Given the description of an element on the screen output the (x, y) to click on. 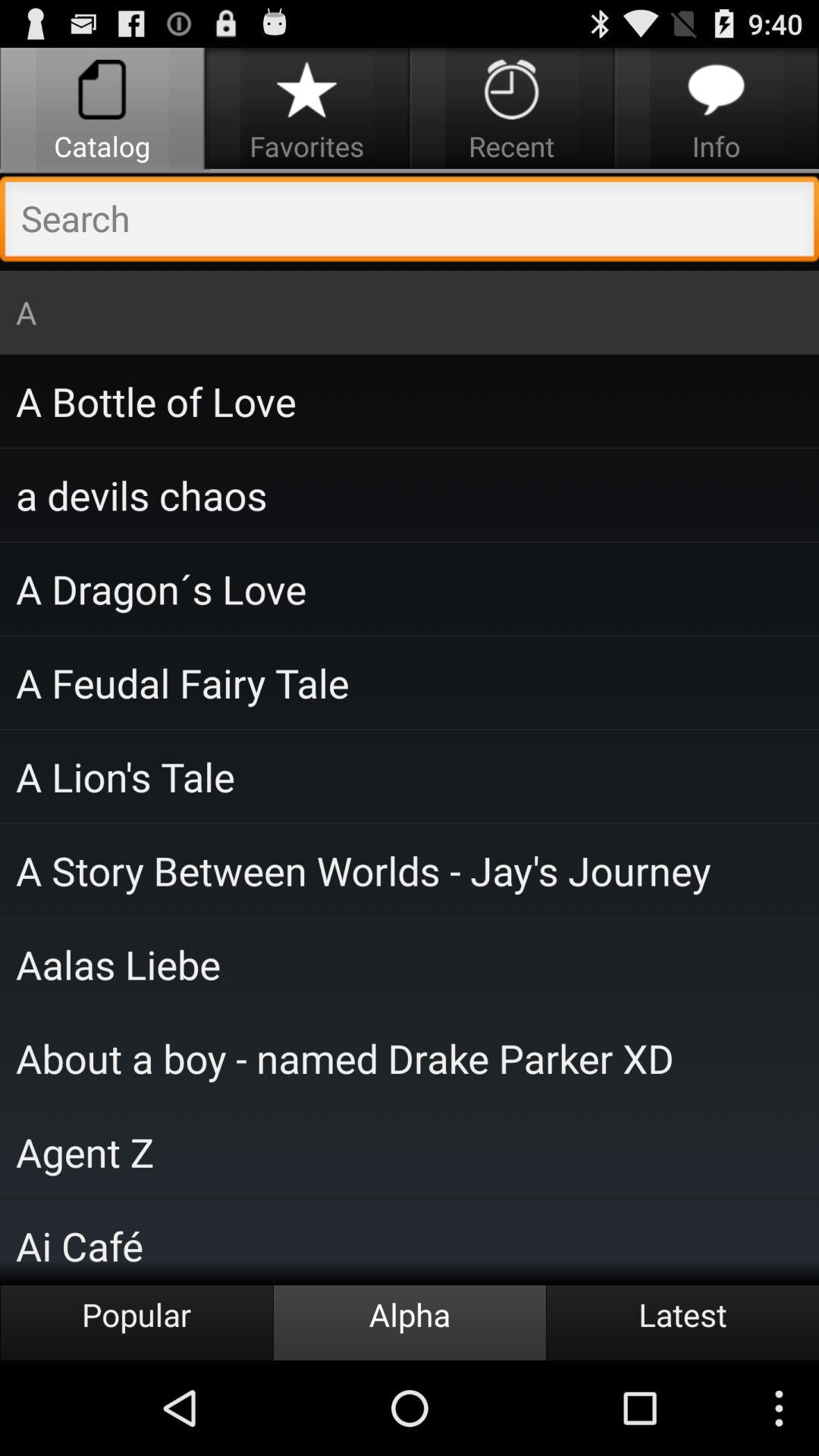
choose the item next to latest item (409, 1322)
